Given the description of an element on the screen output the (x, y) to click on. 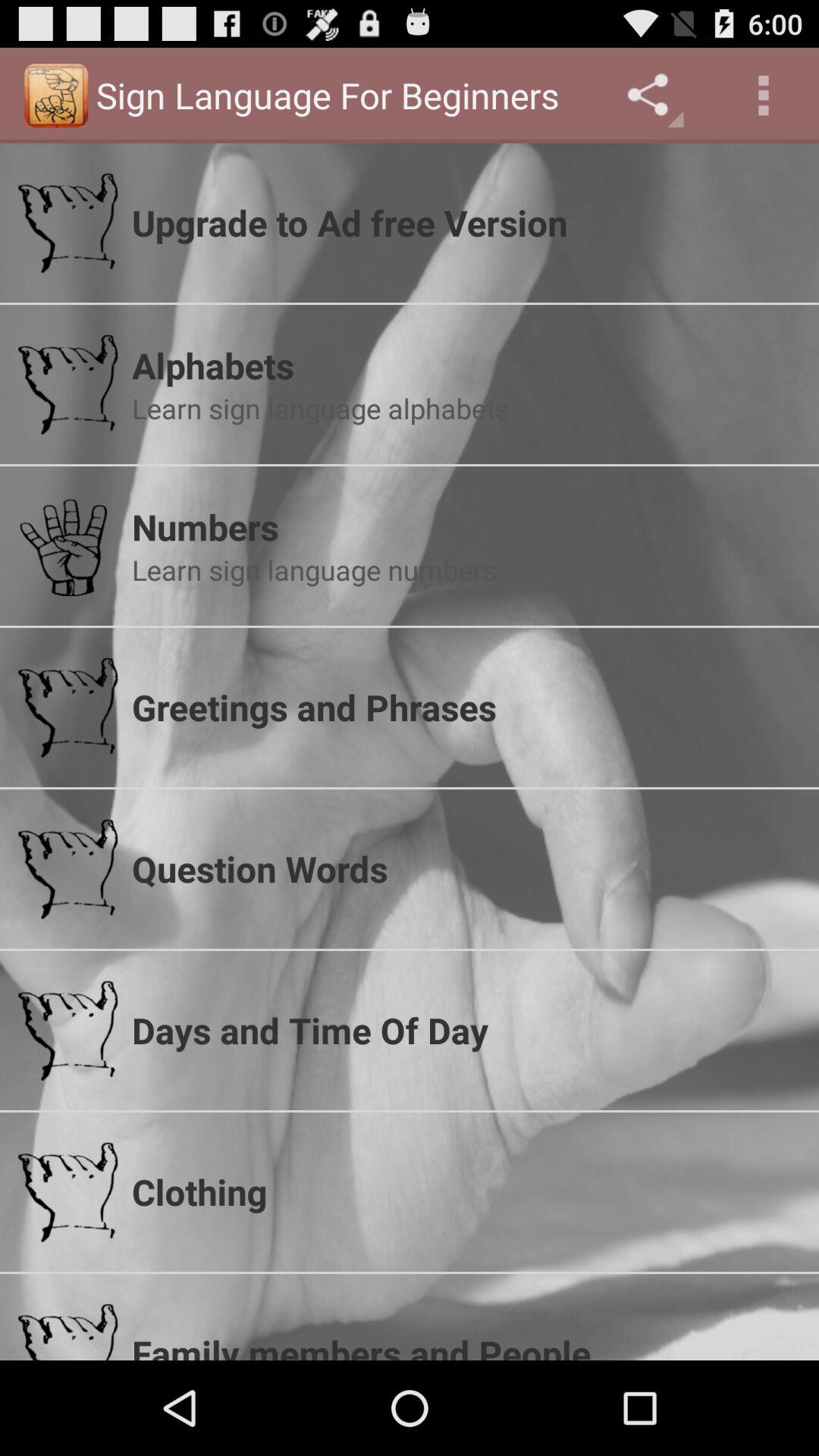
tap the item below days and time icon (465, 1191)
